Given the description of an element on the screen output the (x, y) to click on. 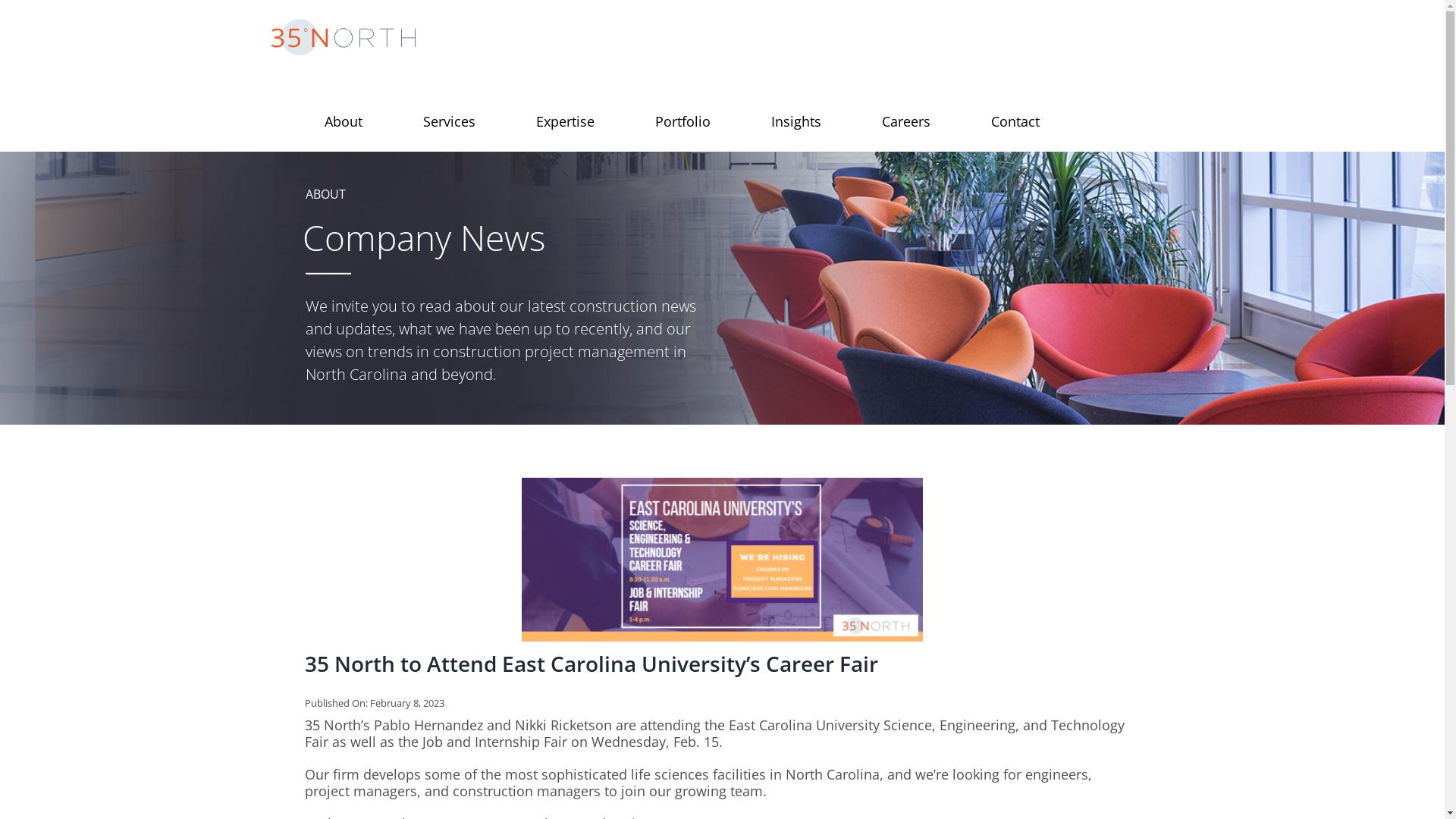
Expertise Element type: text (565, 113)
Portfolio Element type: text (681, 113)
Services Element type: text (448, 113)
Careers Element type: text (905, 113)
Insights Element type: text (796, 113)
Contact Element type: text (1015, 113)
About Element type: text (342, 113)
